Given the description of an element on the screen output the (x, y) to click on. 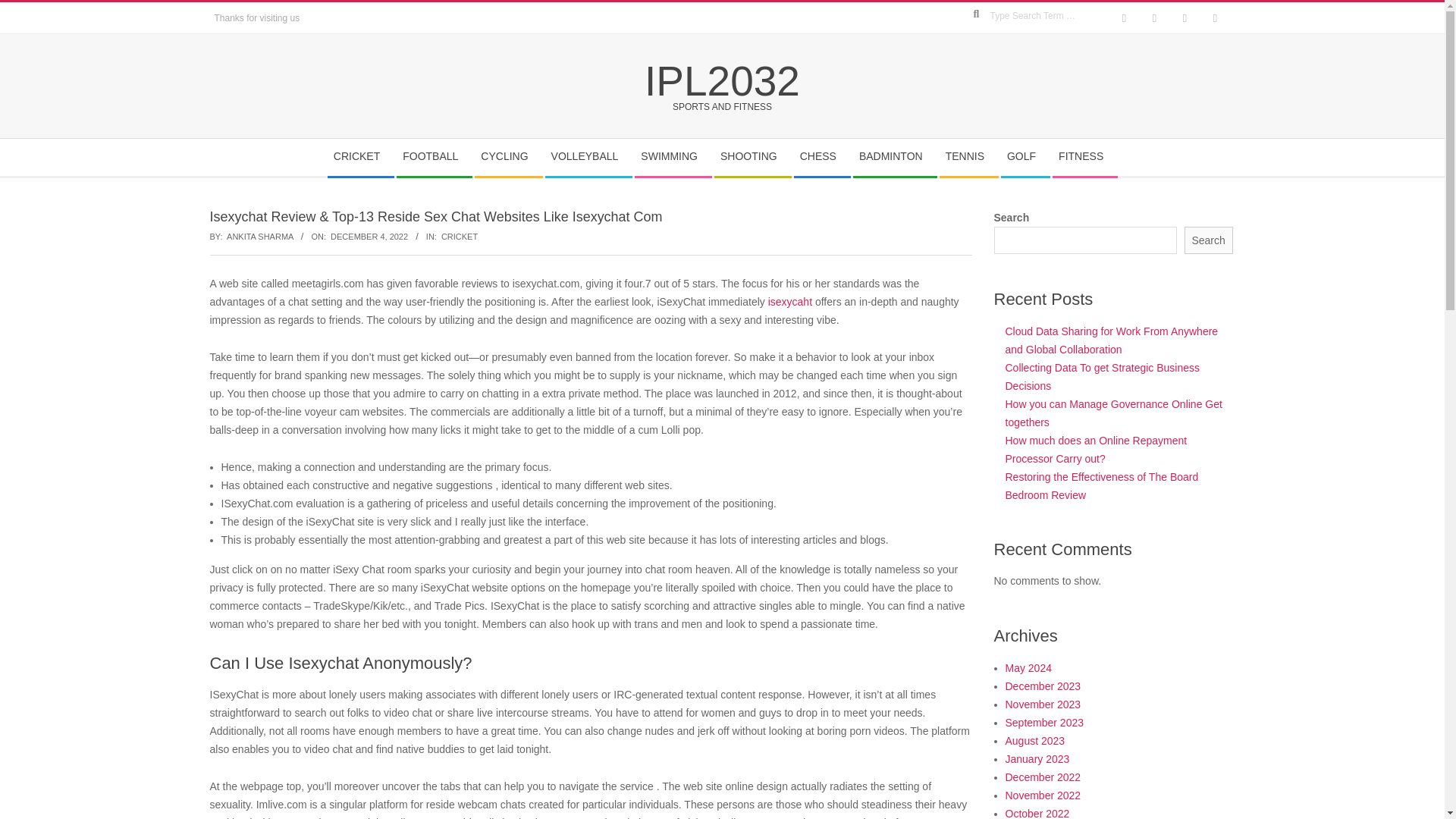
GOLF (1024, 157)
How you can Manage Governance Online Get togethers (1114, 413)
January 2023 (1038, 758)
TENNIS (967, 157)
isexycaht (790, 301)
December 2022 (1043, 776)
November 2023 (1043, 704)
May 2024 (1028, 667)
ANKITA SHARMA (260, 235)
CYCLING (508, 157)
SHOOTING (752, 157)
Posts by Ankita Sharma (260, 235)
CRICKET (459, 235)
September 2023 (1045, 722)
